Given the description of an element on the screen output the (x, y) to click on. 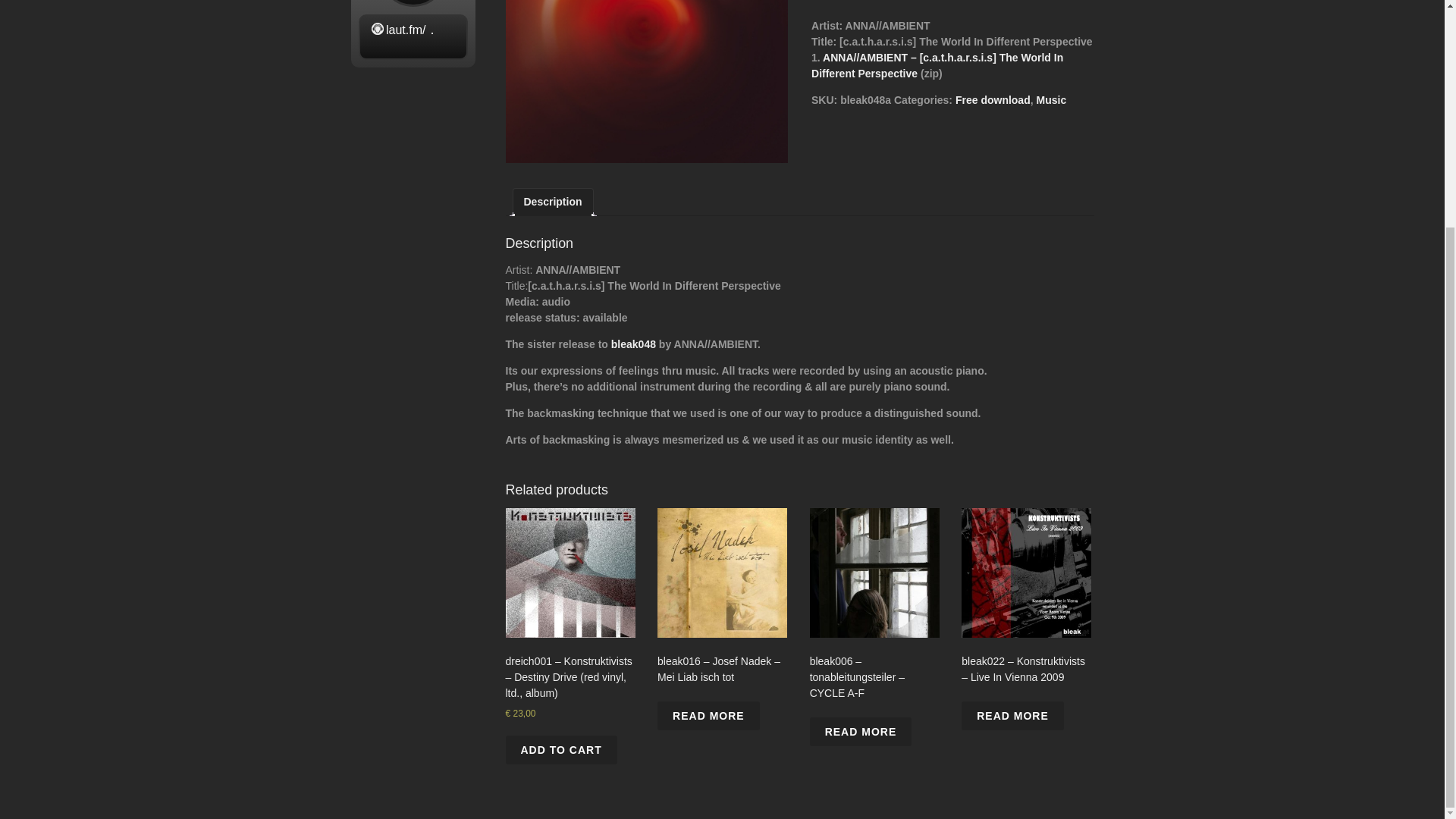
READ MORE (709, 715)
ADD TO CART (560, 749)
READ MORE (1012, 715)
Music (1050, 100)
READ MORE (860, 731)
Description (551, 202)
bleak048 (633, 344)
bleak048a.jpg (646, 81)
Free download (992, 100)
